Given the description of an element on the screen output the (x, y) to click on. 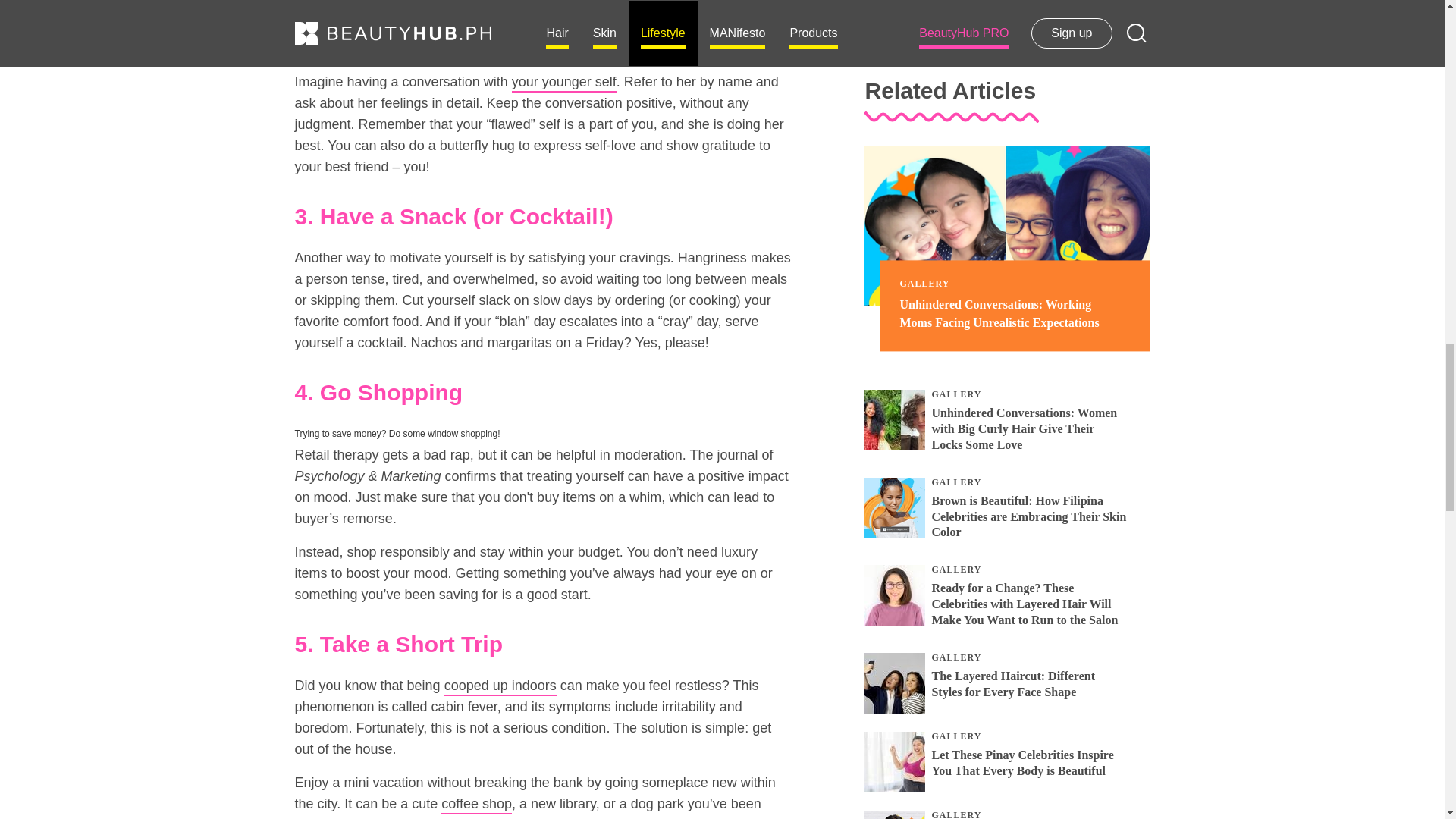
Scientific ReportsLink opens in a new window (509, 26)
